Given the description of an element on the screen output the (x, y) to click on. 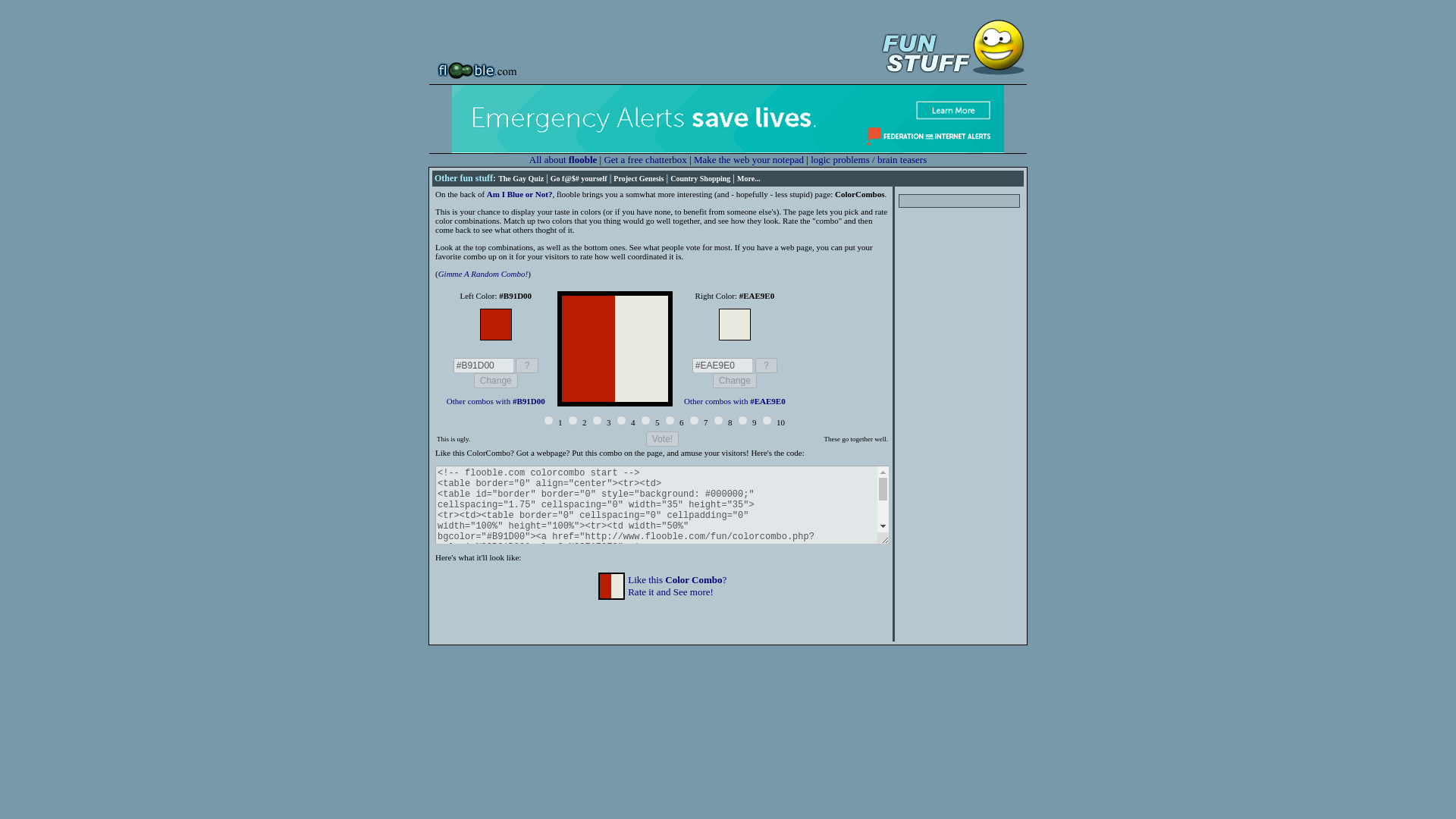
8 (718, 420)
 ?  (766, 365)
Change (735, 380)
10 (766, 420)
9 (743, 420)
Change (496, 380)
Get a free chatterbox (676, 585)
Project Genesis (644, 159)
Gimme A Random Combo! (637, 178)
7 (482, 273)
Am I Blue or Not? (693, 420)
Change (519, 194)
3 (496, 380)
Make the web your notepad (597, 420)
